Given the description of an element on the screen output the (x, y) to click on. 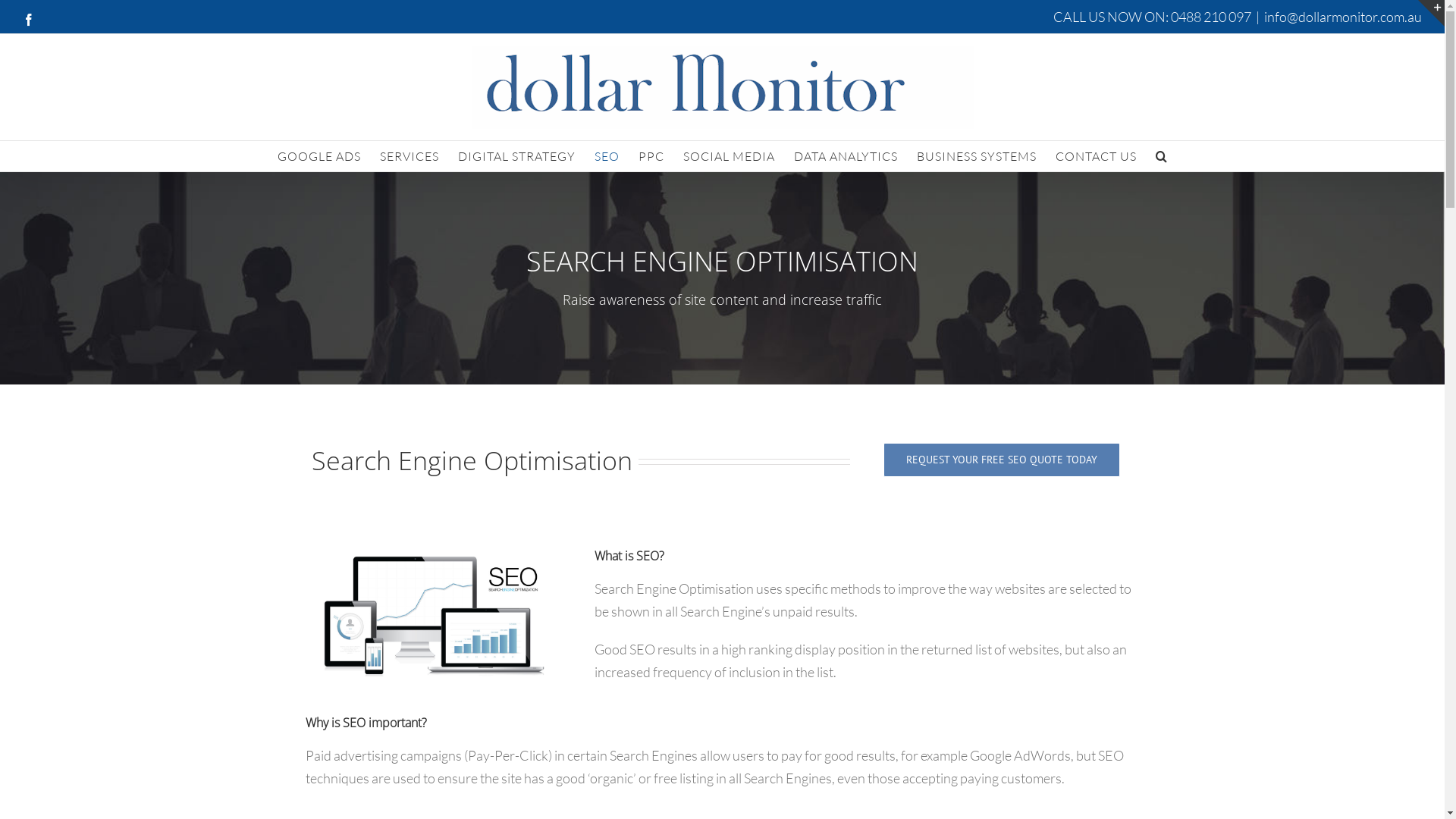
Facebook Element type: text (28, 19)
DIGITAL STRATEGY Element type: text (516, 156)
BUSINESS SYSTEMS Element type: text (975, 156)
SERVICES Element type: text (408, 156)
DATA ANALYTICS Element type: text (845, 156)
SOCIAL MEDIA Element type: text (728, 156)
SEO Element type: text (606, 156)
CONTACT US Element type: text (1095, 156)
GOOGLE ADS Element type: text (318, 156)
PPC Element type: text (651, 156)
REQUEST YOUR FREE SEO QUOTE TODAY Element type: text (1001, 459)
info@dollarmonitor.com.au Element type: text (1342, 16)
